Given the description of an element on the screen output the (x, y) to click on. 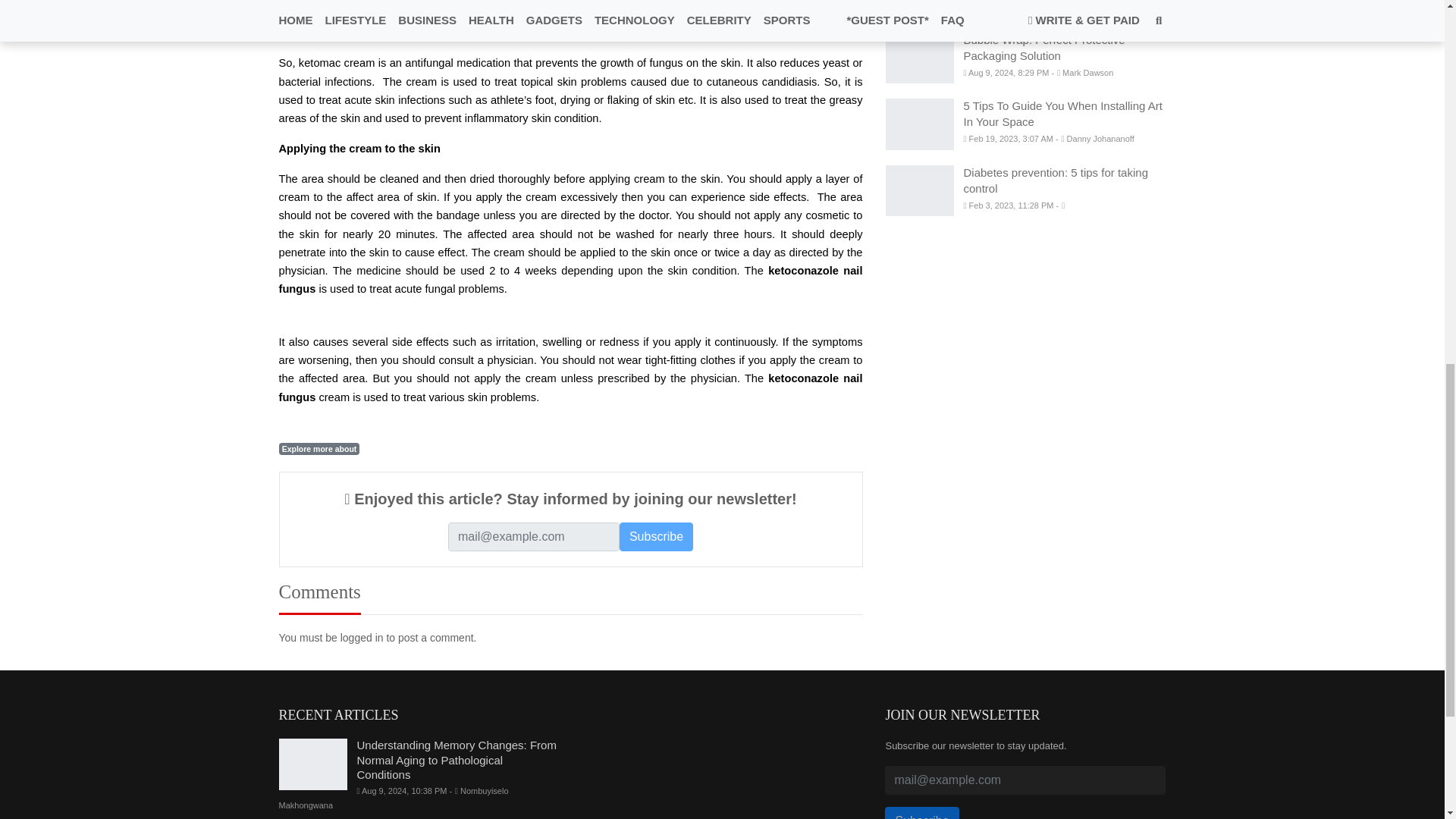
Bubble Wrap: Perfect Protective Packaging Solution (1043, 47)
5 Tips To Guide You When Installing Art In Your Space (919, 123)
Diabetes prevention: 5 tips for taking control (919, 191)
5 Tips To Guide You When Installing Art In Your Space (1061, 113)
Subscribe (656, 536)
Subscribe (656, 536)
Subscribe (921, 812)
Bubble Wrap: Perfect Protective Packaging Solution (919, 57)
